Given the description of an element on the screen output the (x, y) to click on. 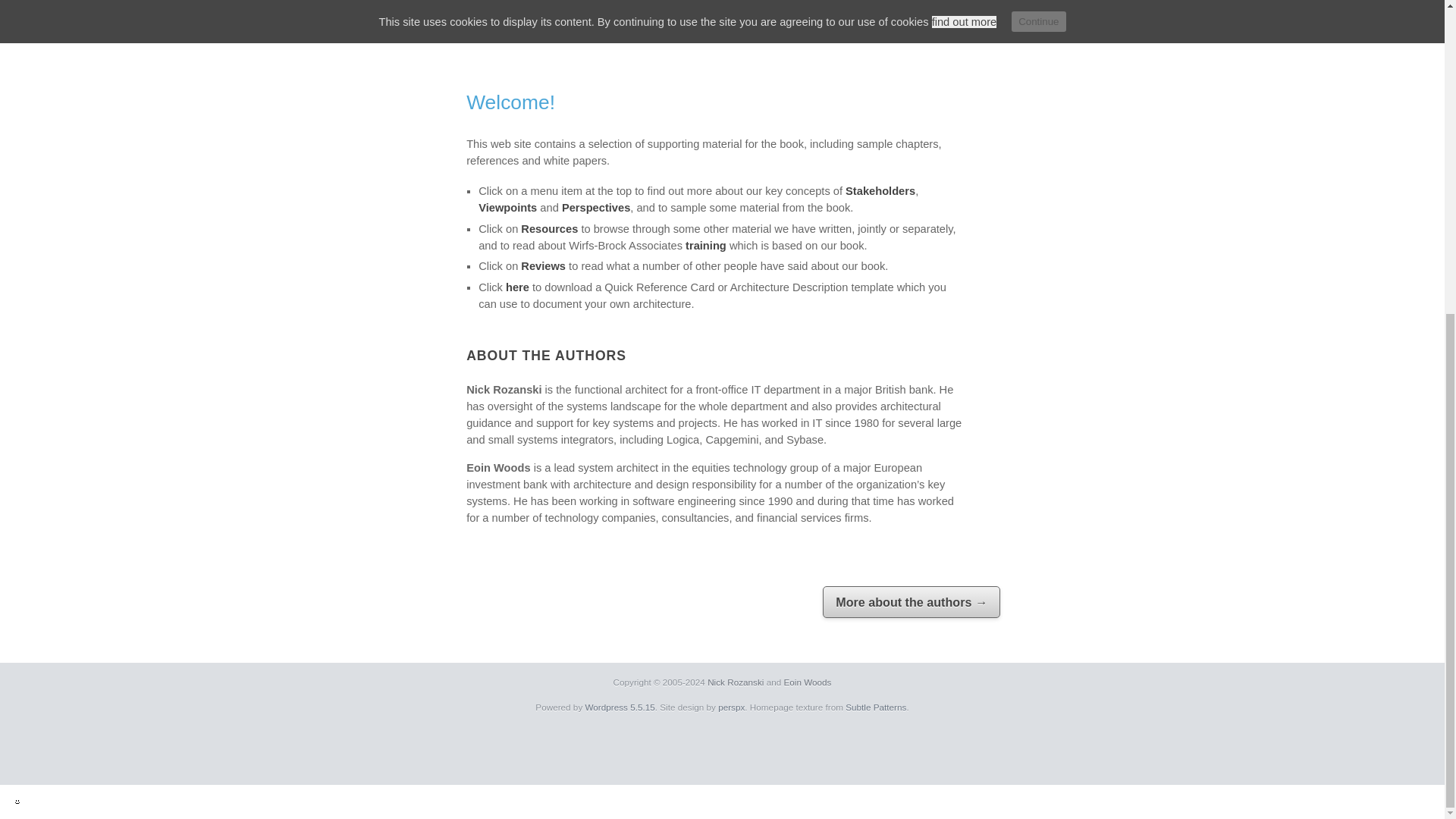
Perspectives (596, 207)
Stakeholders (880, 191)
Resources (549, 228)
Wordpress 5.5.15 (620, 706)
training (705, 245)
Subtle Patterns (875, 706)
Perspectives (596, 207)
Reviews (543, 265)
here (517, 287)
perspx (730, 706)
Viewpoints (508, 207)
training (705, 245)
Reviews (543, 265)
Resources (549, 228)
Viewpoints (508, 207)
